Given the description of an element on the screen output the (x, y) to click on. 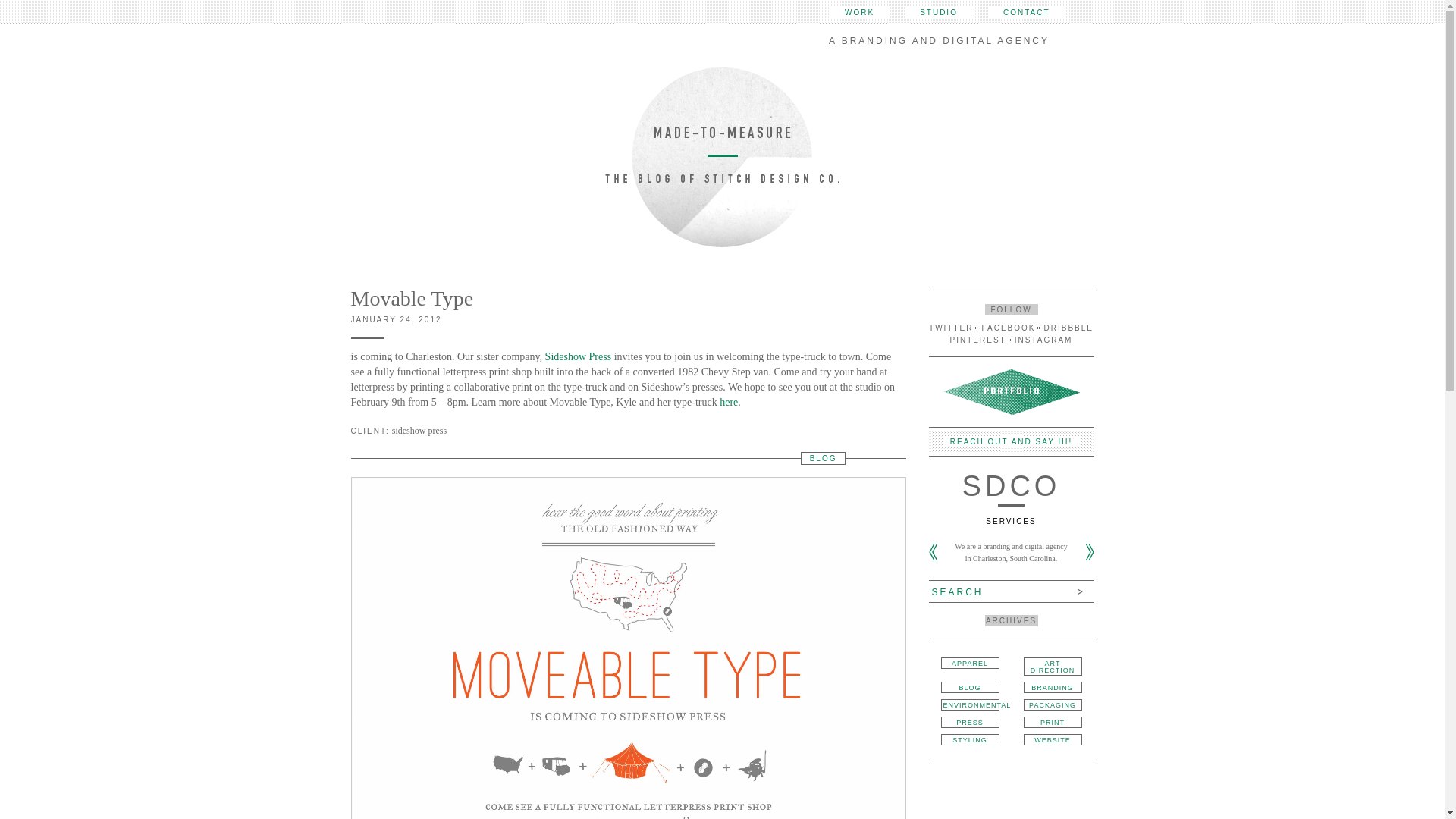
Sideshow Press (577, 356)
PINTEREST (978, 339)
Reach Out and Say Hi! (1011, 441)
Work (859, 12)
Facebook (1008, 327)
Studio (938, 12)
REACH OUT AND SAY HI! (1011, 441)
Dribbble (1068, 327)
TWITTER (950, 327)
CONTACT (1026, 12)
here (728, 401)
Portfolio (1011, 391)
Search (999, 589)
WORK (859, 12)
BLOG (823, 458)
